Given the description of an element on the screen output the (x, y) to click on. 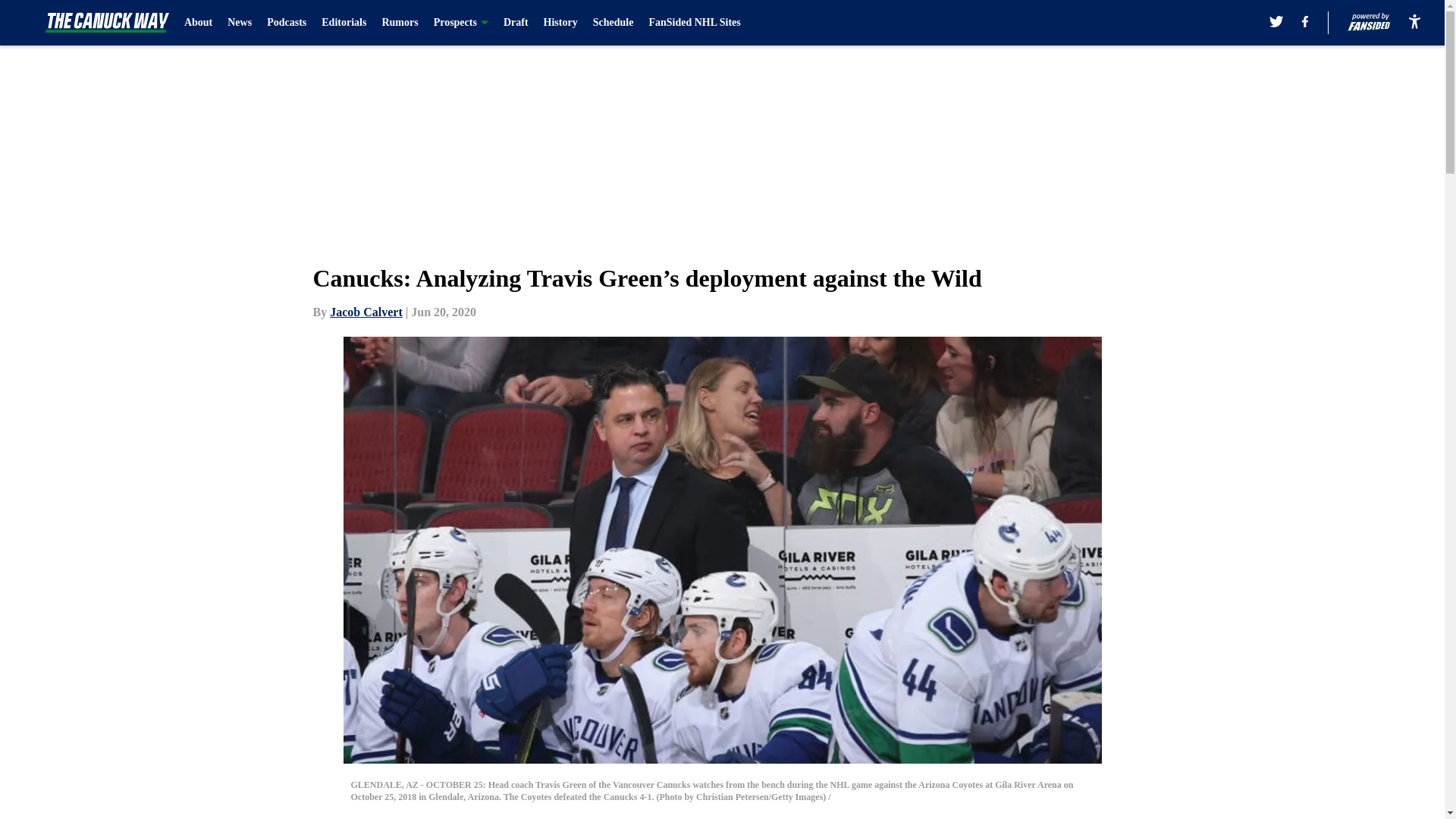
Rumors (399, 22)
Editorials (343, 22)
Schedule (612, 22)
About (198, 22)
News (239, 22)
FanSided NHL Sites (693, 22)
History (560, 22)
Podcasts (285, 22)
Jacob Calvert (366, 311)
Draft (515, 22)
